Given the description of an element on the screen output the (x, y) to click on. 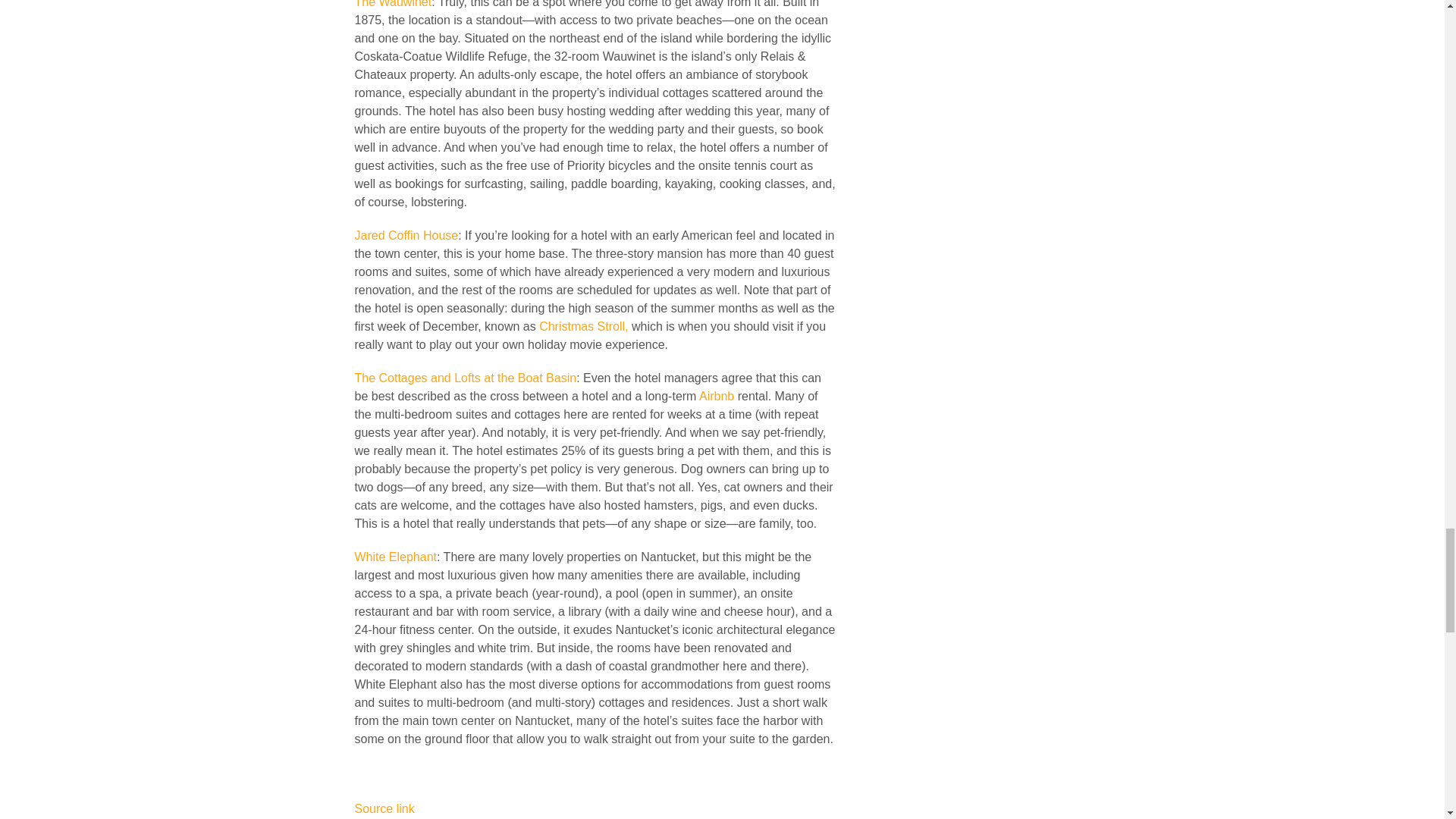
Airbnb (715, 395)
Christmas Stroll, (582, 326)
The Cottages and Lofts at the Boat Basin (465, 377)
White Elephant (396, 556)
Jared Coffin House (406, 235)
The Wauwinet (393, 4)
Source link (384, 808)
